Given the description of an element on the screen output the (x, y) to click on. 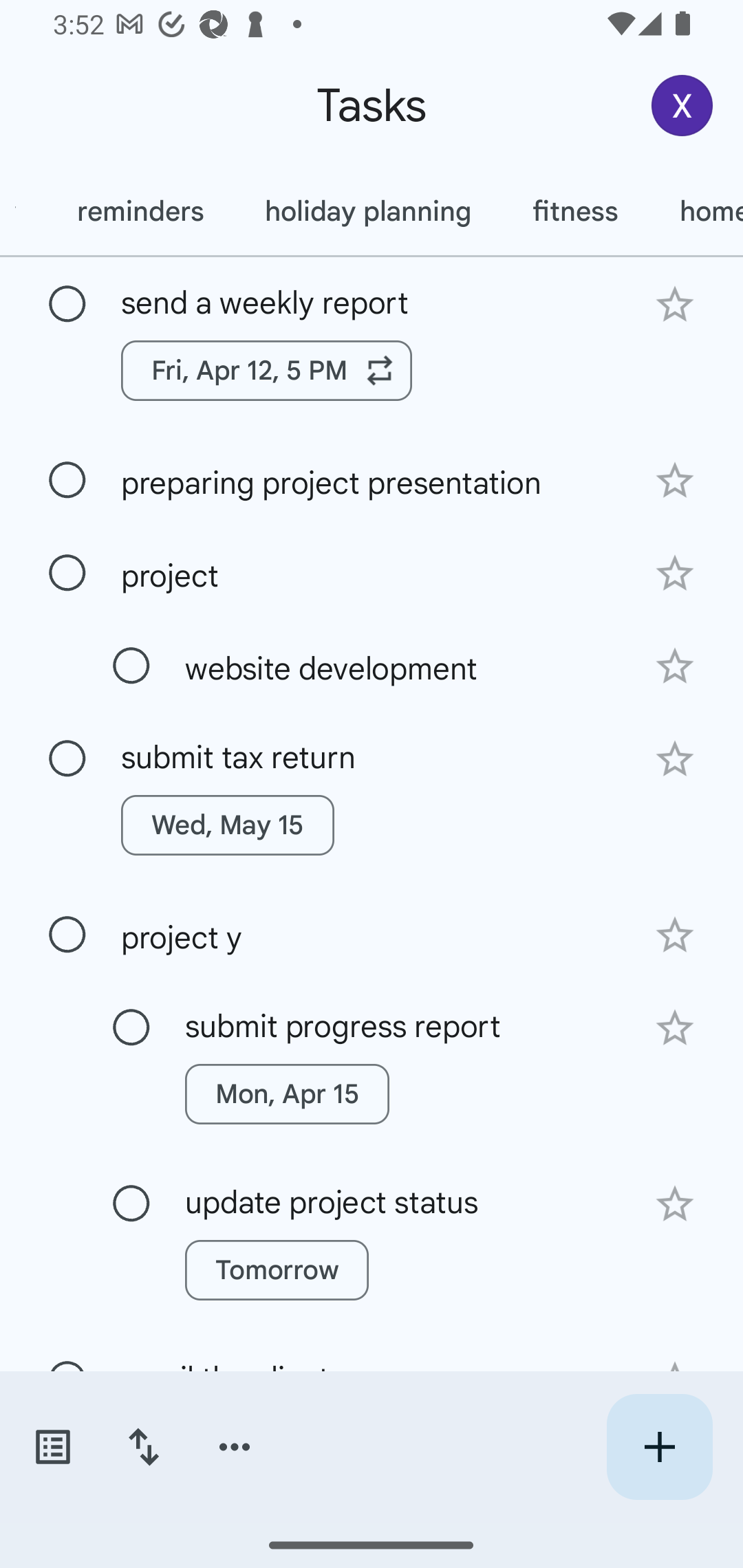
reminders (140, 211)
holiday planning (367, 211)
fitness (574, 211)
home management (695, 211)
Add star (674, 303)
Mark as complete (67, 304)
Fri, Apr 12, 5 PM (266, 369)
Add star (674, 480)
Mark as complete (67, 480)
Add star (674, 573)
Mark as complete (67, 572)
Add star (674, 665)
Mark as complete (131, 666)
Add star (674, 758)
Mark as complete (67, 759)
Wed, May 15 (227, 824)
Add star (674, 935)
Mark as complete (67, 935)
Add star (674, 1028)
Mark as complete (131, 1027)
Mon, Apr 15 (287, 1093)
Add star (674, 1203)
Mark as complete (131, 1204)
Tomorrow (276, 1269)
Switch task lists (52, 1447)
Create new task (659, 1446)
Change sort order (143, 1446)
More options (234, 1446)
